Given the description of an element on the screen output the (x, y) to click on. 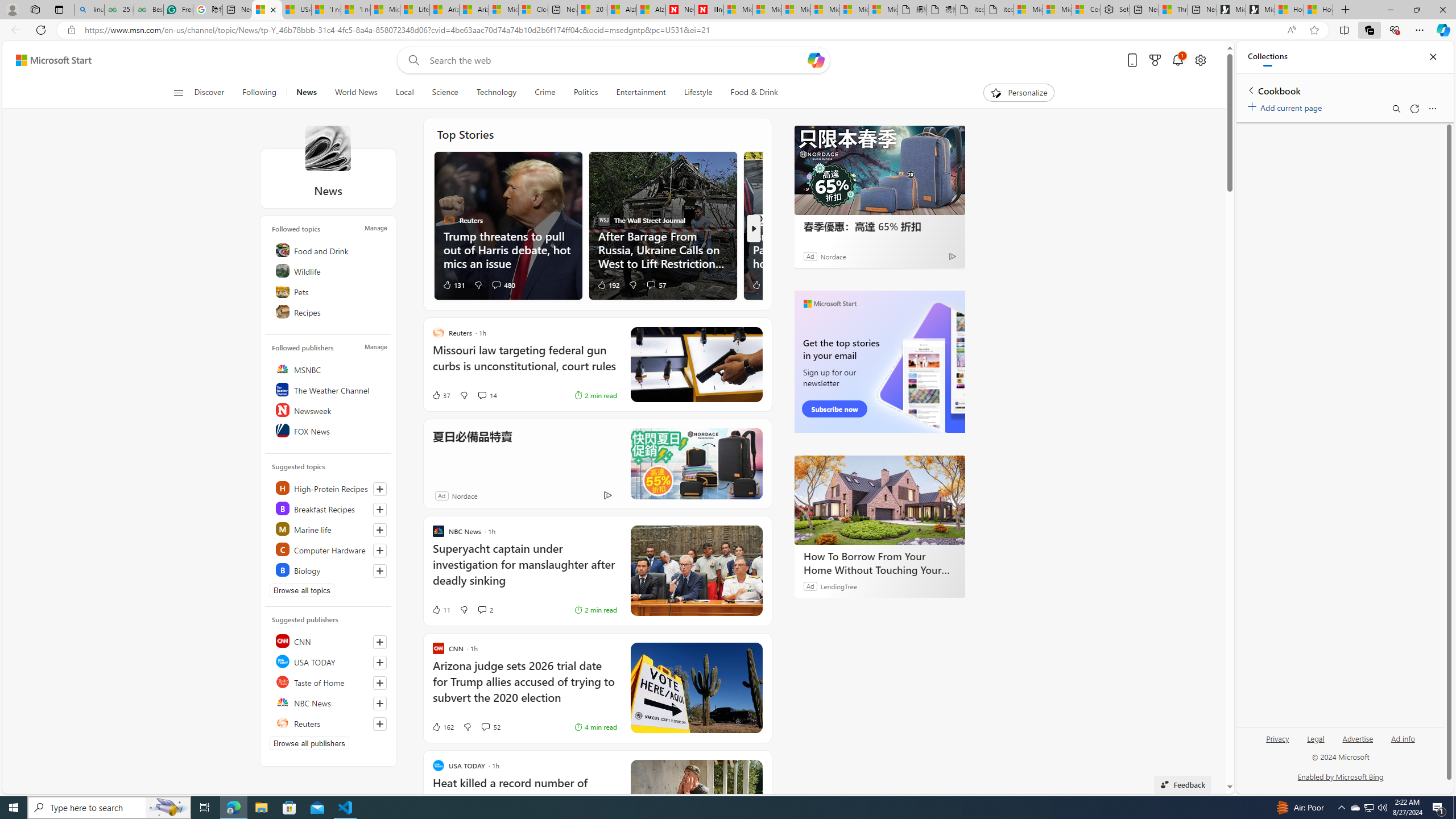
USA TODAY (328, 661)
News - MSN (266, 9)
192 Like (608, 284)
Reuters (328, 723)
Pets (328, 290)
Browse all topics (301, 590)
Taste of Home (328, 682)
CNN (328, 641)
View comments 14 Comment (487, 395)
